Given the description of an element on the screen output the (x, y) to click on. 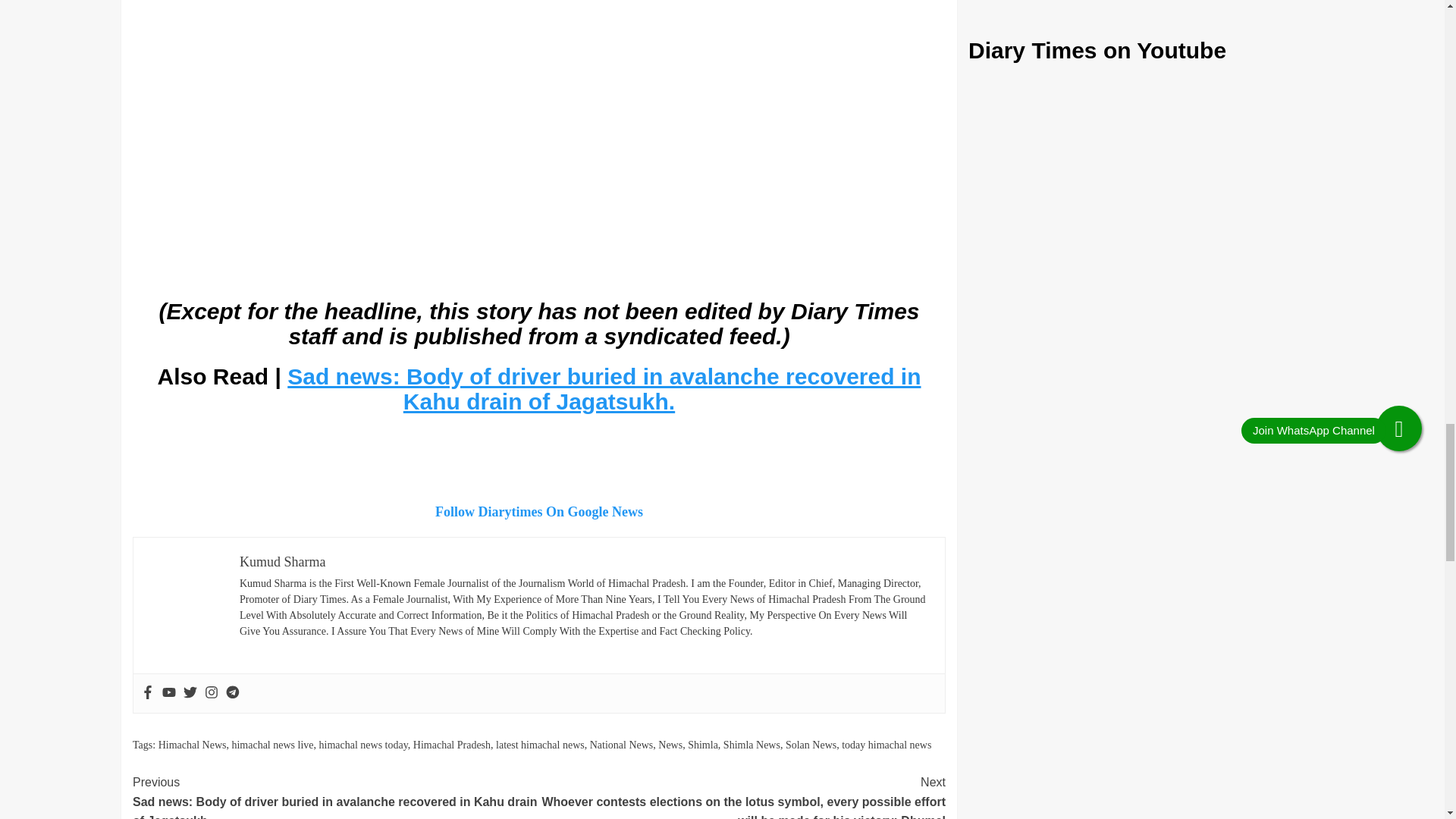
Telegram (232, 693)
Twitter (189, 693)
Youtube (168, 693)
Instagram (211, 693)
Facebook (147, 693)
